Given the description of an element on the screen output the (x, y) to click on. 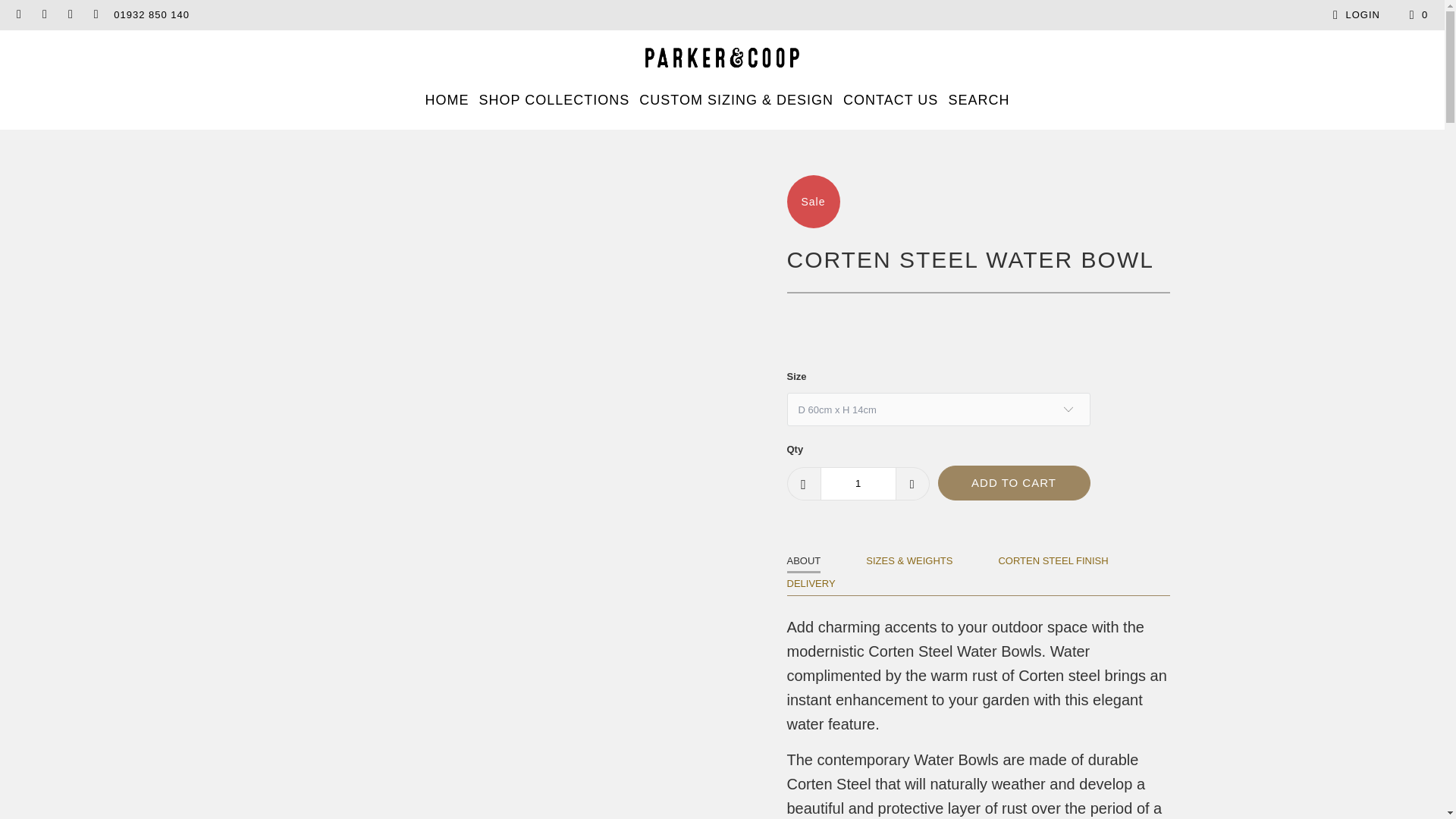
1 (858, 483)
SEARCH (978, 100)
My Account  (1353, 15)
LOGIN (1353, 15)
CONTACT US (890, 100)
HOME (446, 100)
SHOP COLLECTIONS (554, 100)
01932 850 140 (151, 15)
